Given the description of an element on the screen output the (x, y) to click on. 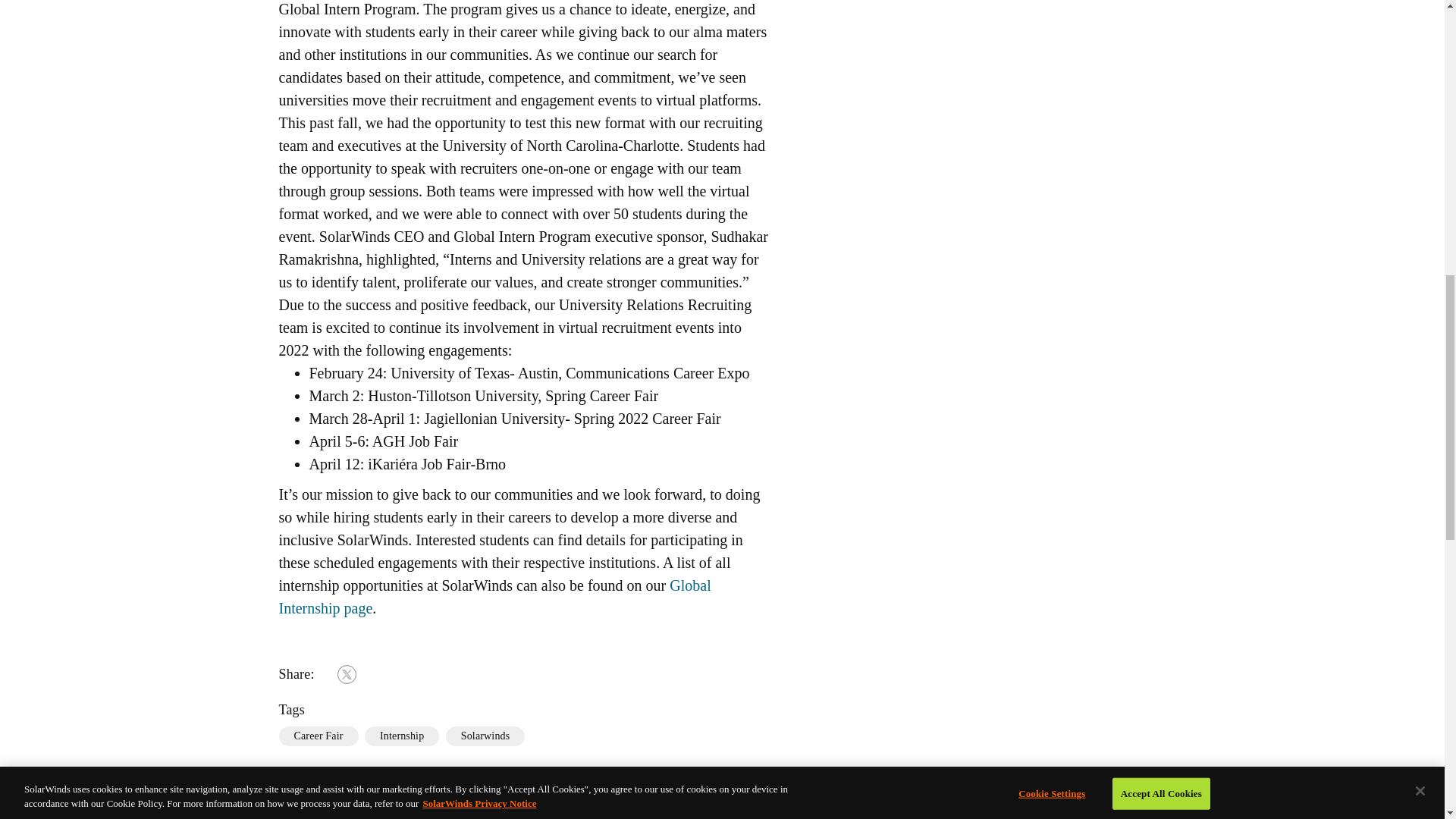
Global Internship page (495, 596)
